Given the description of an element on the screen output the (x, y) to click on. 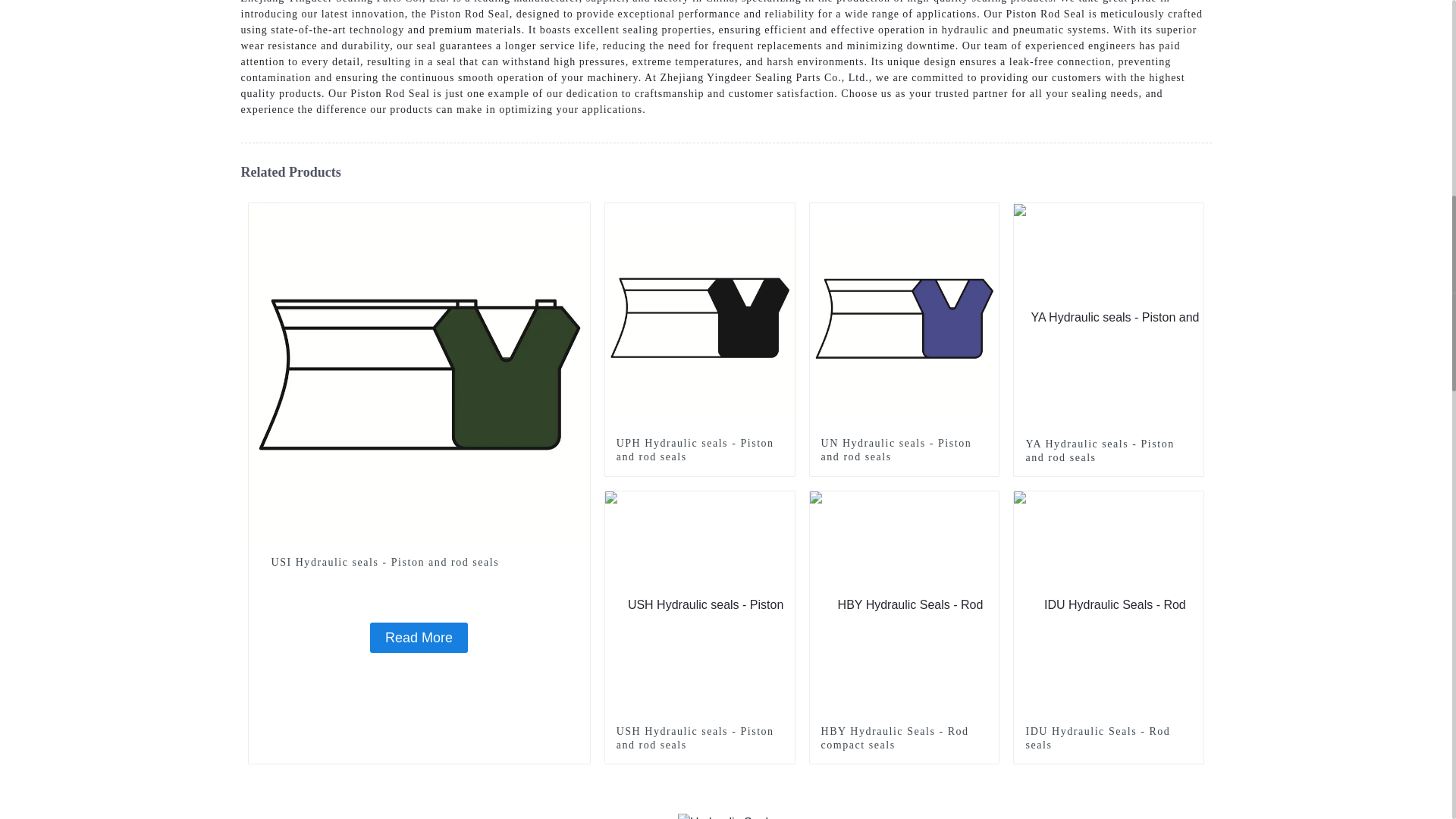
Read More (418, 637)
USI Hydraulic seals - Piston and rod seals (418, 562)
UN Hydraulic seals - Piston and rod seals0 (986, 214)
USH Hydraulic seals - Piston and rod seals (699, 604)
USH Hydraulic seals - Piston and rod seals (699, 738)
USI Hydraulic seals - Piston and rod seals (418, 637)
USI Hydraulic seals - Piston and rod seals (418, 562)
HBY Hydraulic Seals - Rod compact seals0 (986, 502)
UPH Hydraulic seals - Piston and rod seals0 (782, 214)
UN Hydraulic seals - Piston and rod seals (904, 450)
